Given the description of an element on the screen output the (x, y) to click on. 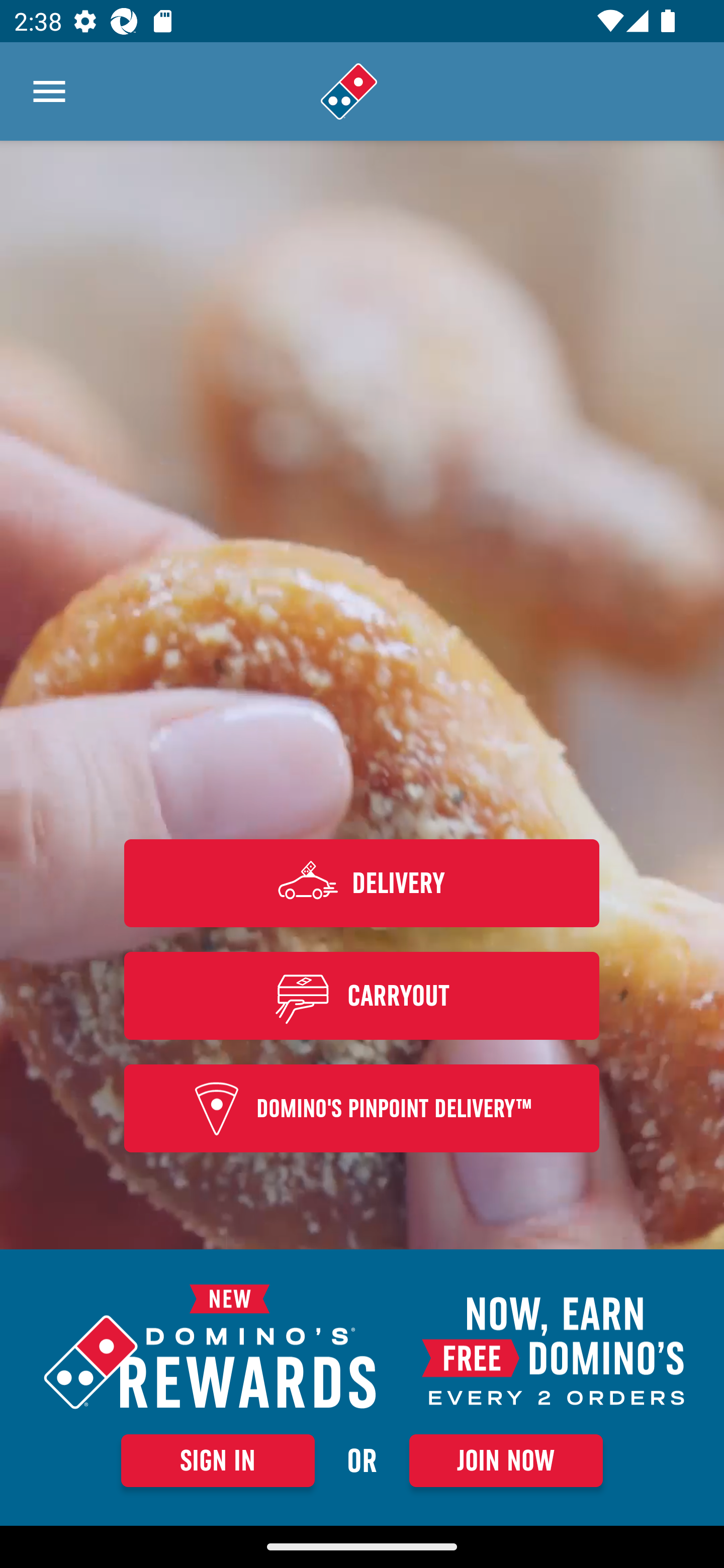
Expand Menu (49, 91)
DELIVERY (361, 882)
CARRYOUT (361, 995)
DOMINO'S PINPOINT DELIVERY™ (361, 1108)
SIGN IN (217, 1460)
JOIN NOW (506, 1460)
